Given the description of an element on the screen output the (x, y) to click on. 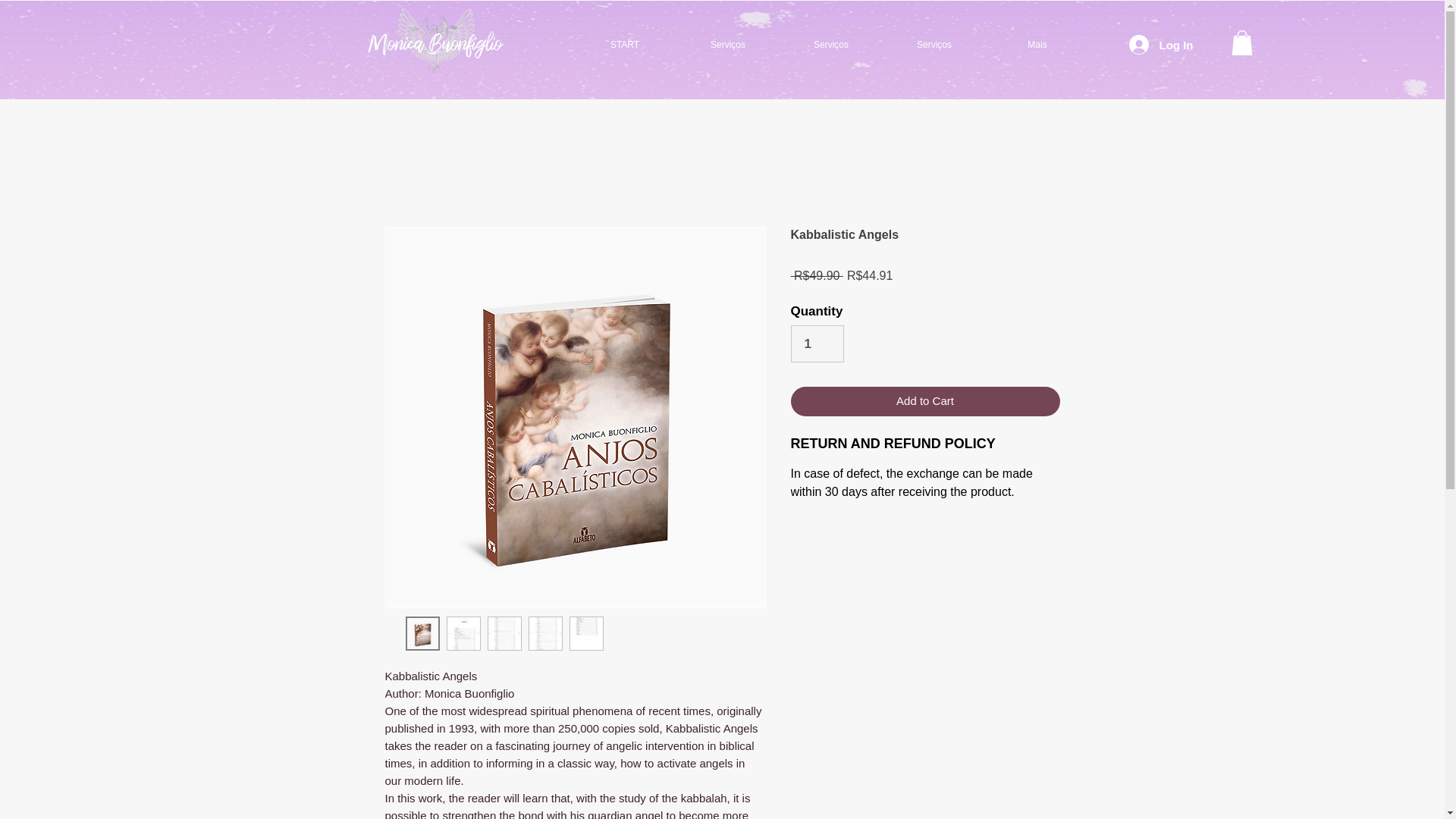
START (625, 44)
LOGO-MONICA-BUON-branco.png (435, 40)
Log In (1146, 44)
1 (817, 343)
Add to Cart (924, 401)
